Given the description of an element on the screen output the (x, y) to click on. 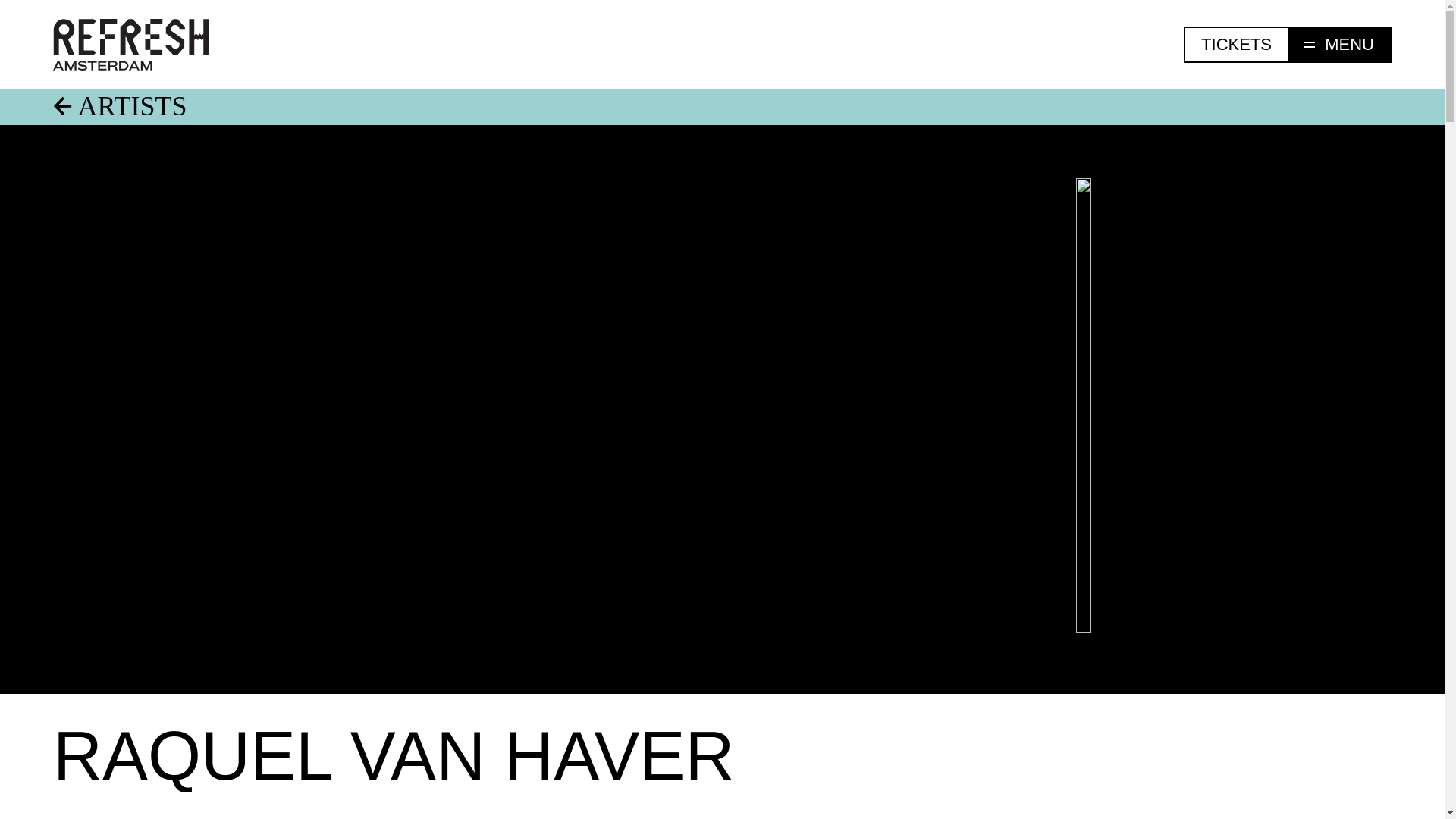
MENU (1339, 44)
TICKETS (1235, 44)
ARTISTS (721, 105)
